Given the description of an element on the screen output the (x, y) to click on. 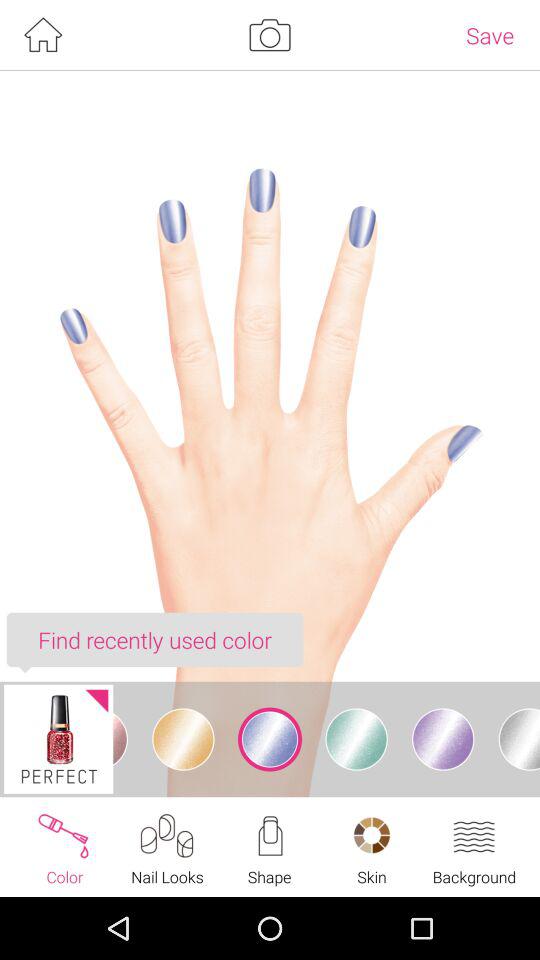
click save icon (490, 35)
